Given the description of an element on the screen output the (x, y) to click on. 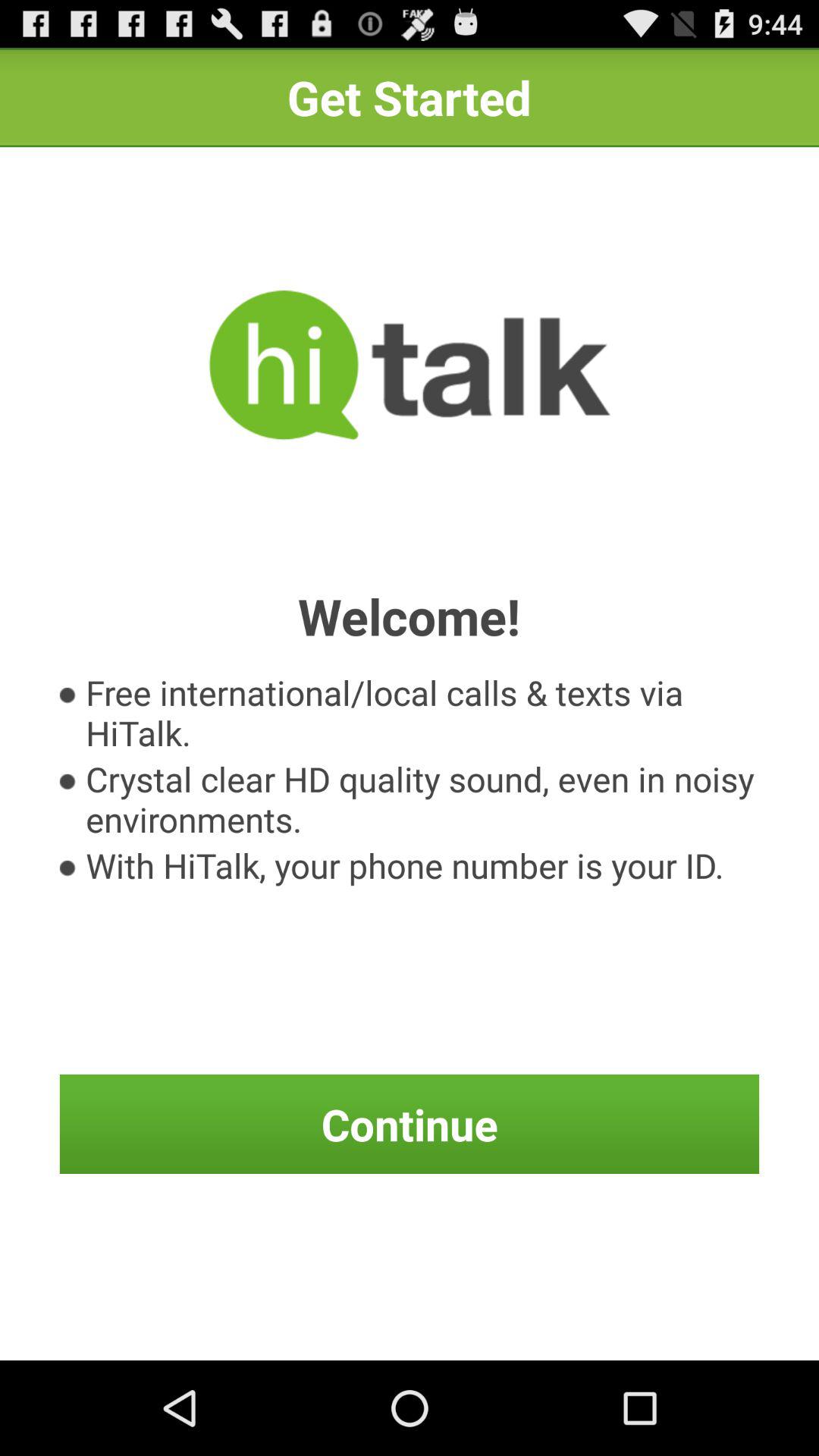
tap icon at the bottom (409, 1123)
